Given the description of an element on the screen output the (x, y) to click on. 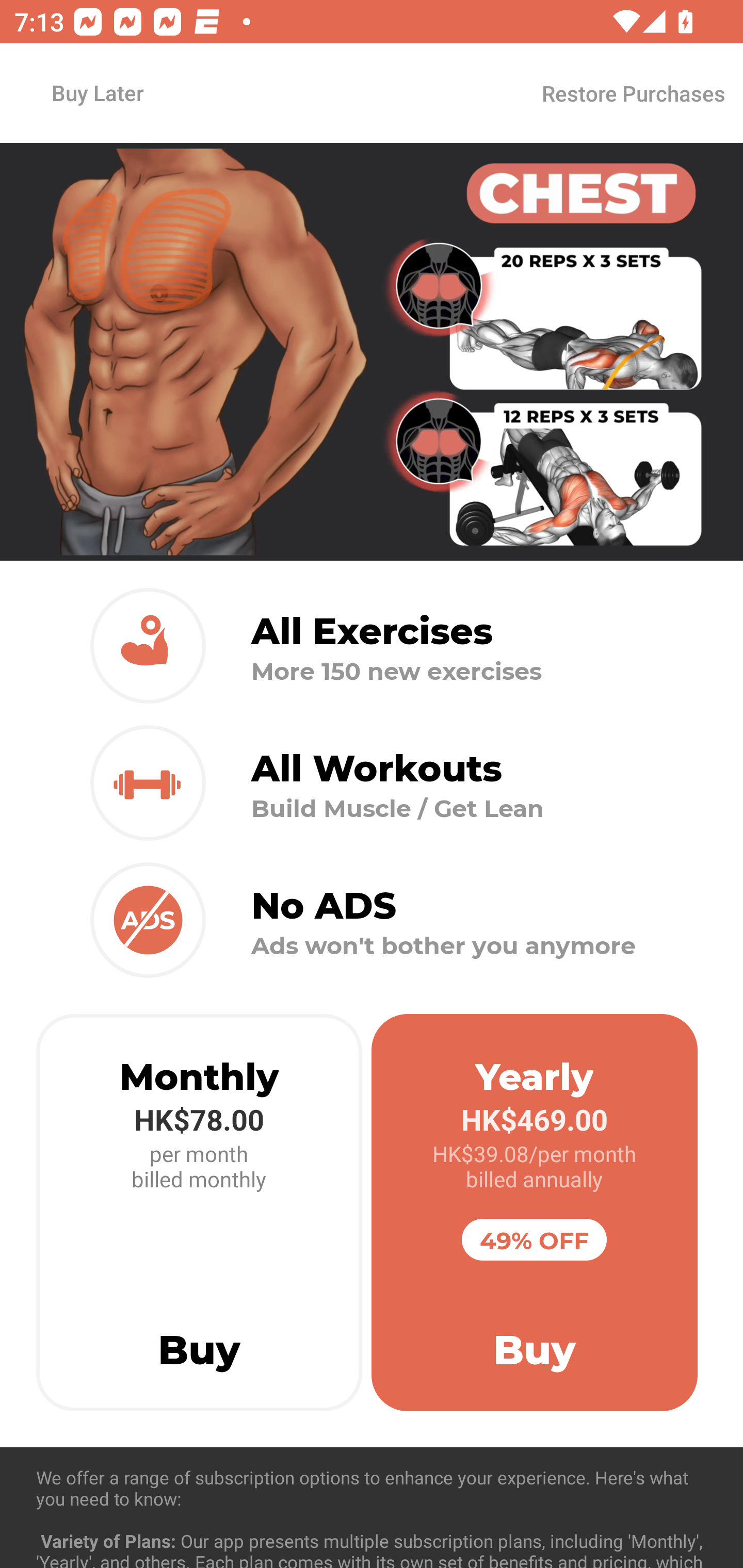
Restore Purchases (632, 92)
Buy Later (96, 92)
Monthly HK$78.00 per month
billed monthly Buy (199, 1212)
